Given the description of an element on the screen output the (x, y) to click on. 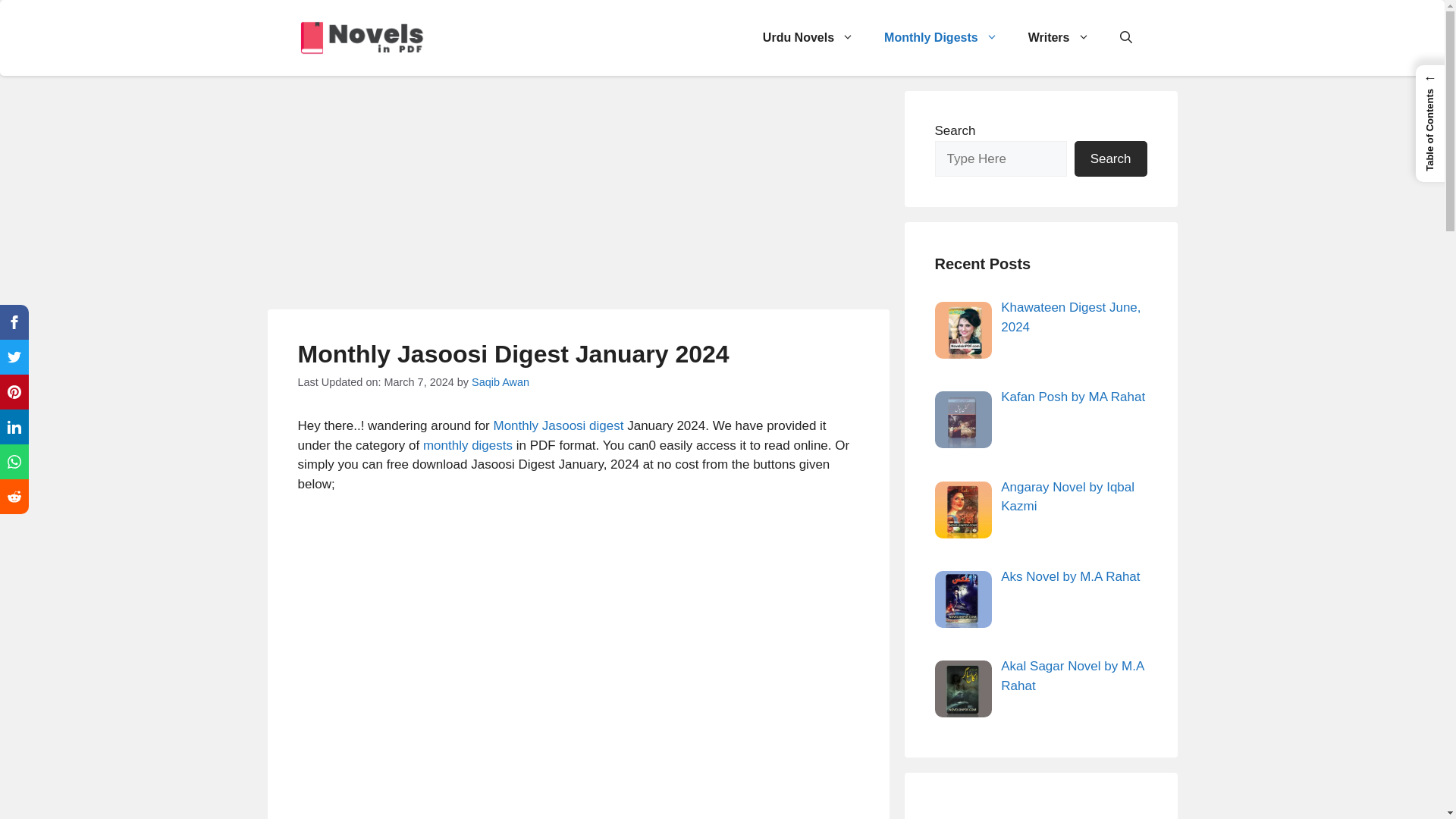
Advertisement (1040, 811)
Advertisement (577, 196)
Urdu Novels (808, 37)
Advertisement (578, 775)
Saqib Awan (500, 381)
View all posts by Saqib Awan (500, 381)
Advertisement (578, 619)
monthly digests (467, 445)
Monthly Digests (941, 37)
Monthly Jasoosi digest (558, 425)
